Given the description of an element on the screen output the (x, y) to click on. 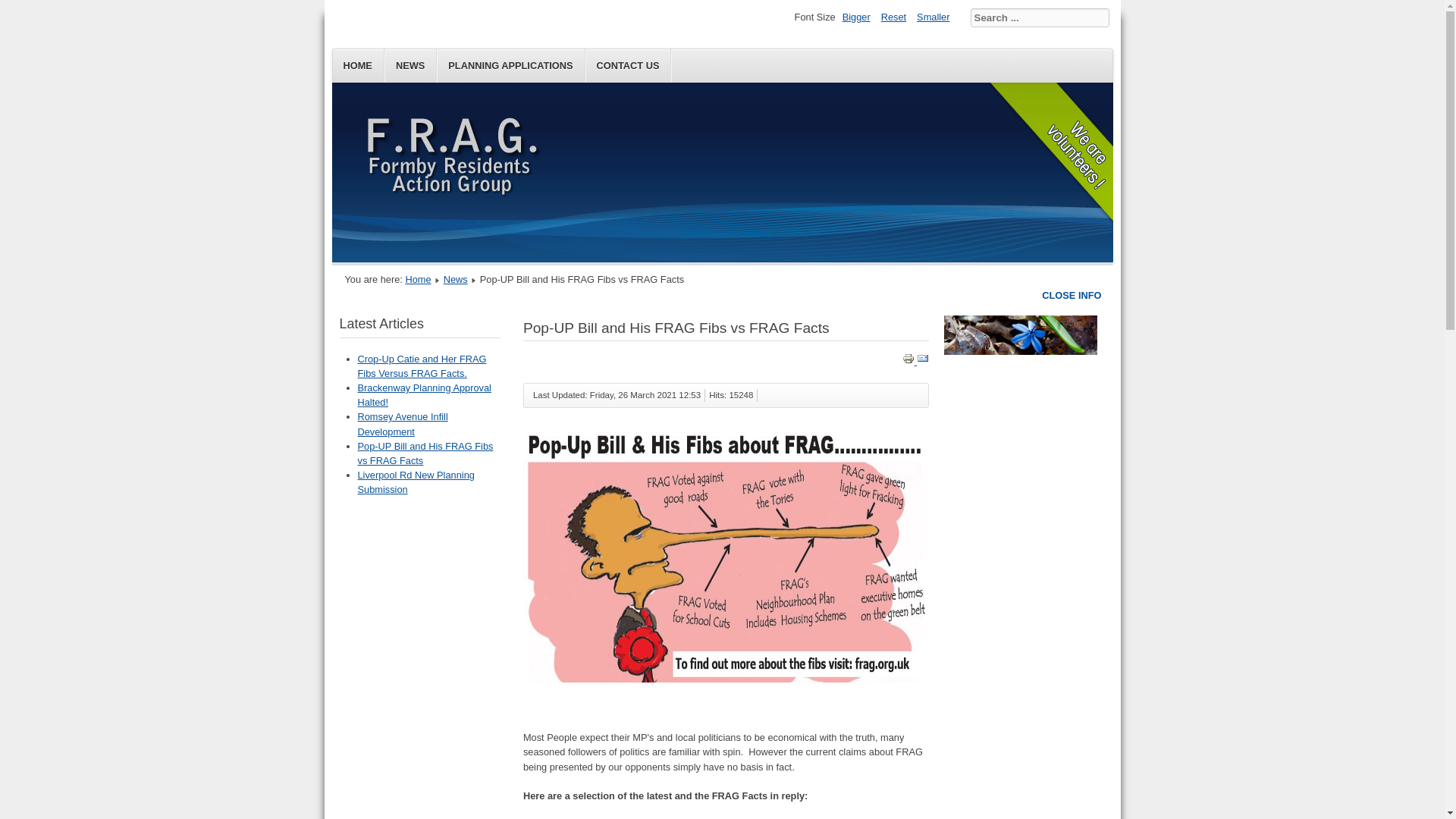
Home (417, 279)
Pop-UP Bill and His FRAG Fibs vs FRAG Facts (425, 453)
Reset (893, 16)
NEWS (410, 65)
Bigger (856, 16)
PLANNING APPLICATIONS (510, 65)
Revert styles to default (893, 16)
CONTACT US (628, 65)
News (455, 279)
Brackenway Planning Approval Halted! (425, 394)
